Given the description of an element on the screen output the (x, y) to click on. 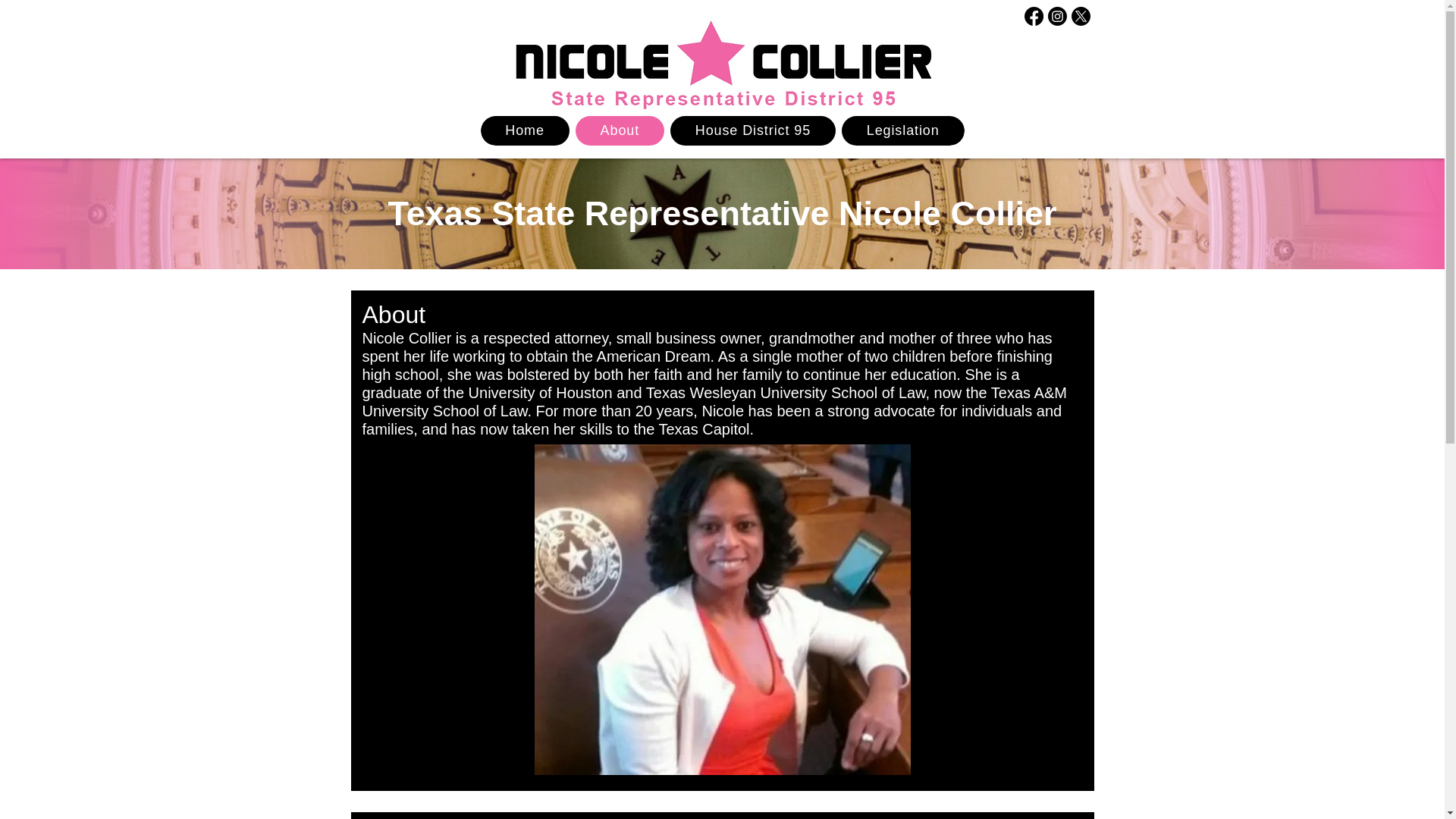
About (721, 130)
Home (619, 130)
House District 95 (524, 130)
Legislation (752, 130)
